Given the description of an element on the screen output the (x, y) to click on. 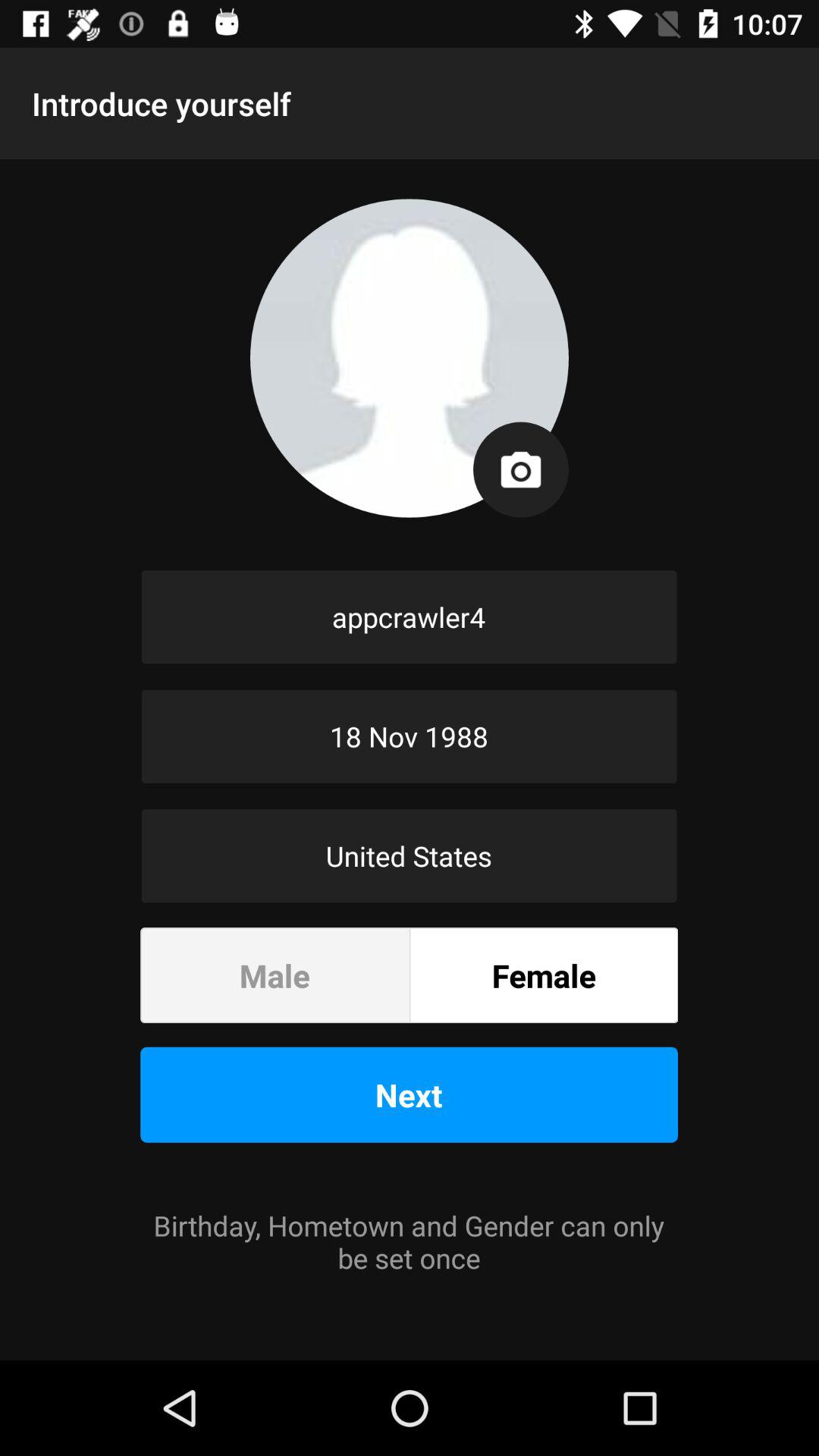
tap icon below the 18 nov 1988 (408, 855)
